Given the description of an element on the screen output the (x, y) to click on. 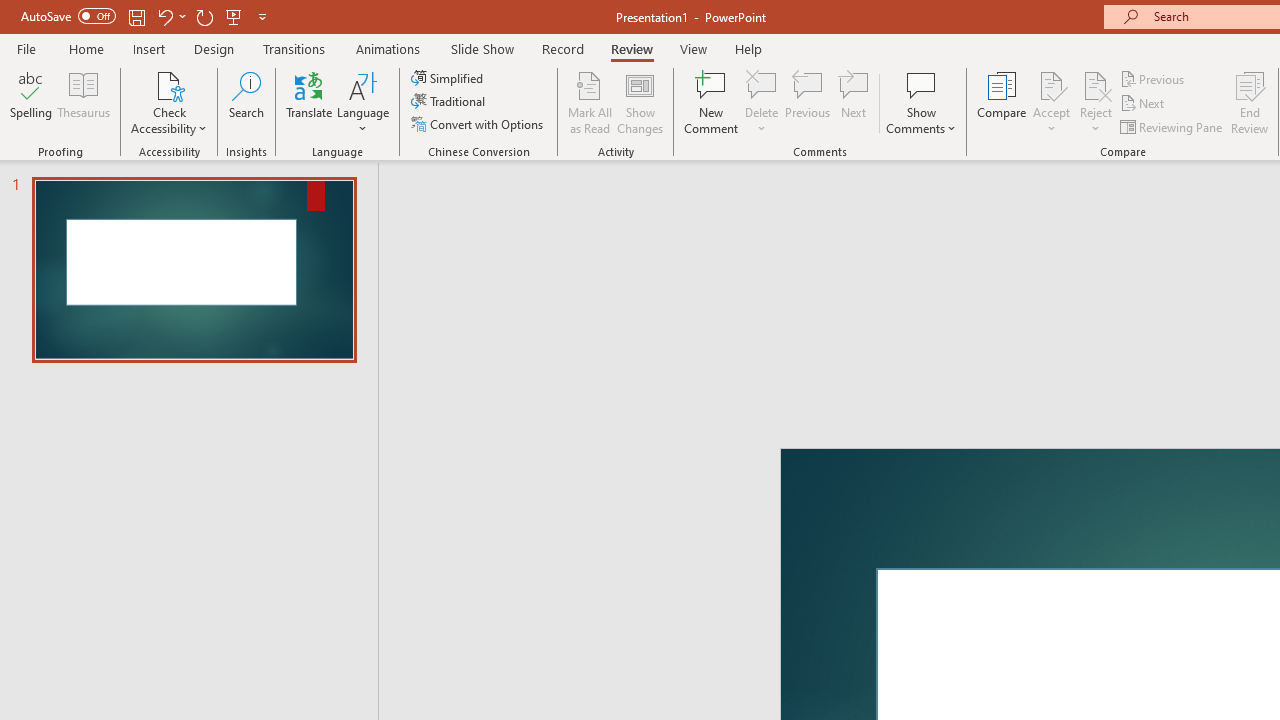
Accept Change (1051, 84)
Reviewing Pane (1172, 126)
Language (363, 102)
Traditional (449, 101)
Show Comments (921, 102)
Check Accessibility (169, 102)
New Comment (711, 102)
